Given the description of an element on the screen output the (x, y) to click on. 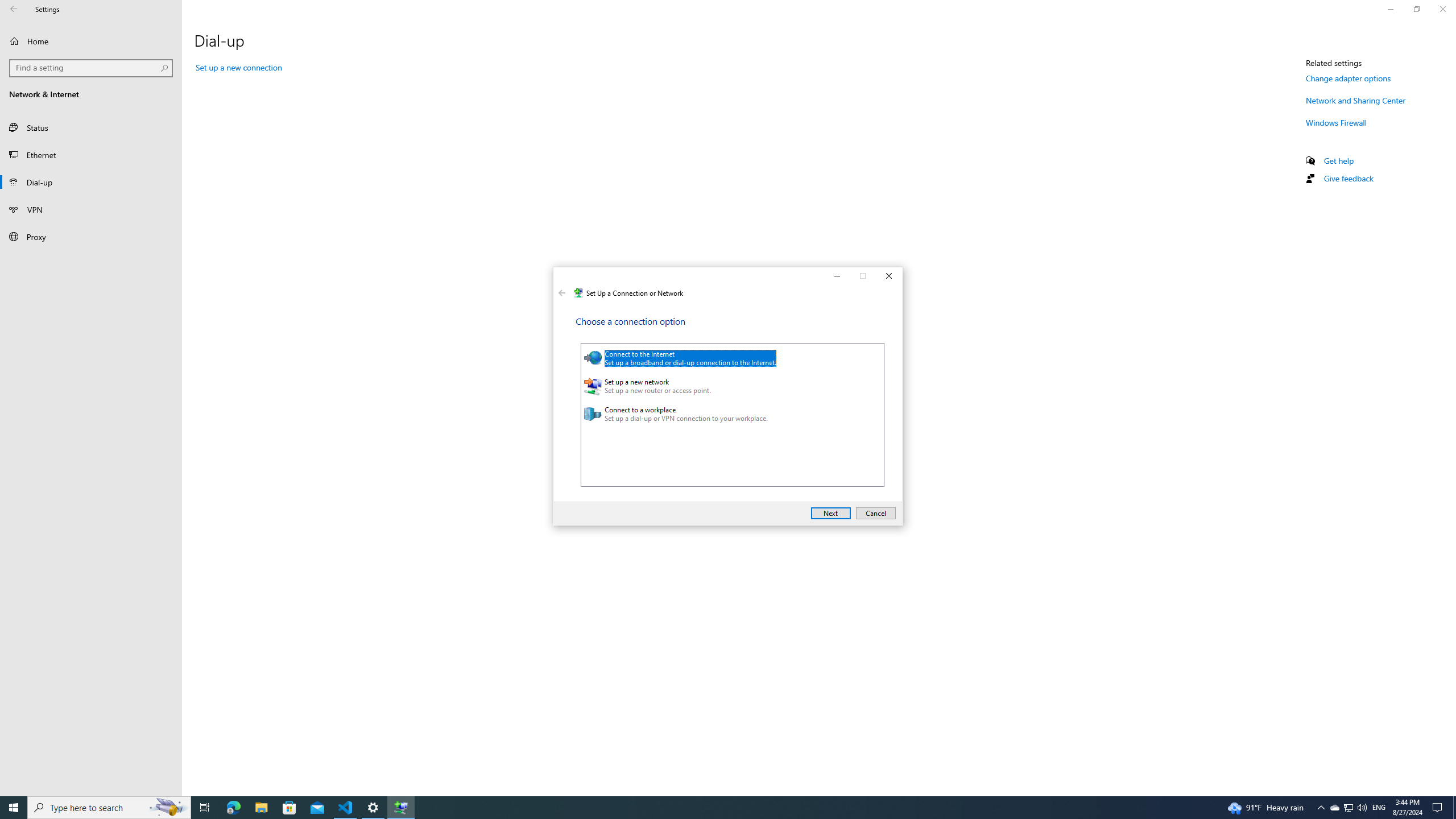
Close (889, 276)
Cancel (876, 513)
Connect to the Internet (727, 358)
Set up a new network (727, 386)
Extensible Wizards Host Process - 1 running window (400, 807)
Minimize (836, 276)
System (559, 277)
